Given the description of an element on the screen output the (x, y) to click on. 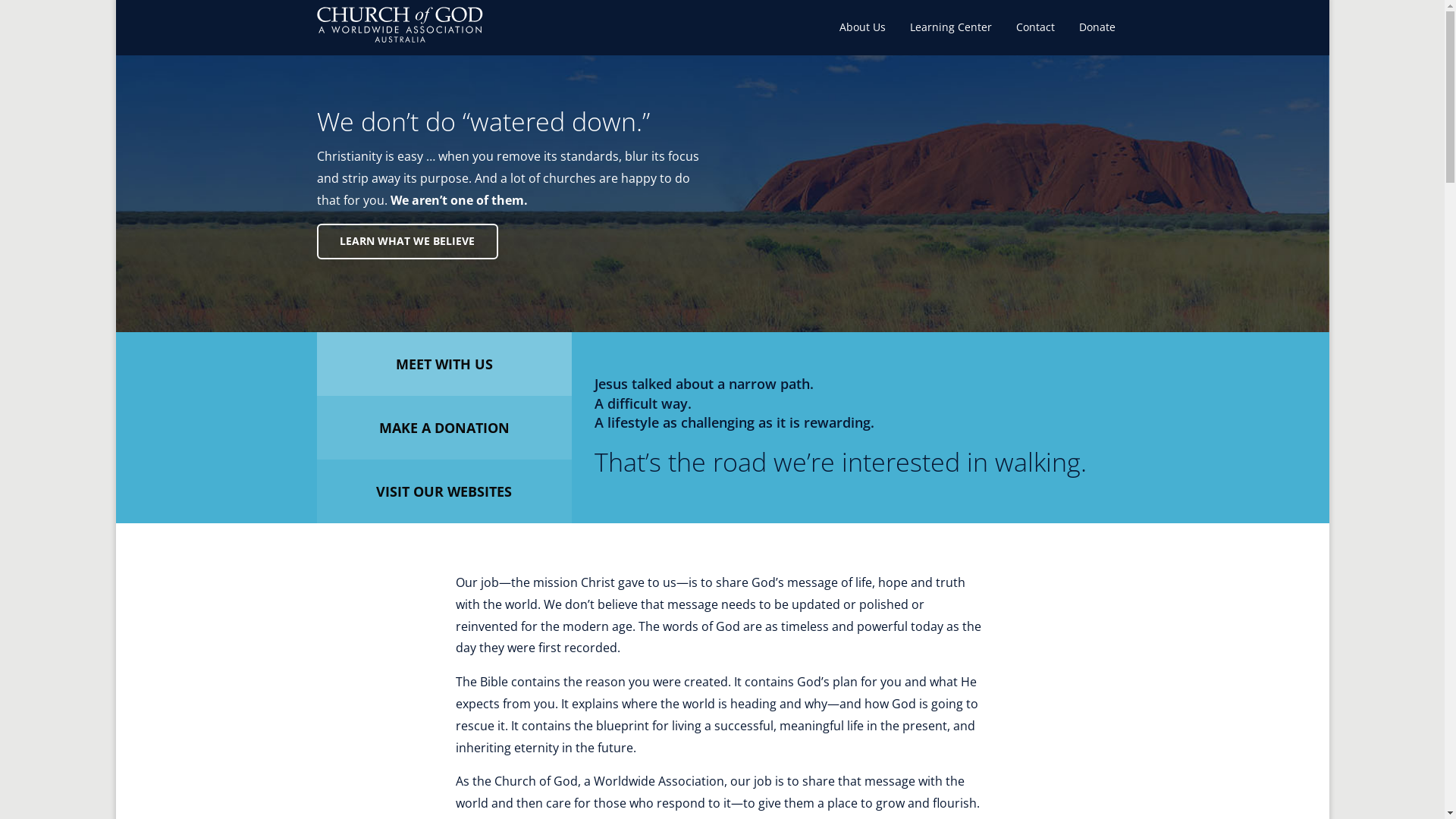
MAKE A DONATION Element type: text (444, 427)
VISIT OUR WEBSITES Element type: text (444, 491)
Contact Element type: text (1035, 26)
Learning Center Element type: text (950, 26)
About Us Element type: text (862, 26)
Donate Element type: text (1096, 26)
MEET WITH US Element type: text (444, 363)
LEARN WHAT WE BELIEVE Element type: text (407, 241)
